Given the description of an element on the screen output the (x, y) to click on. 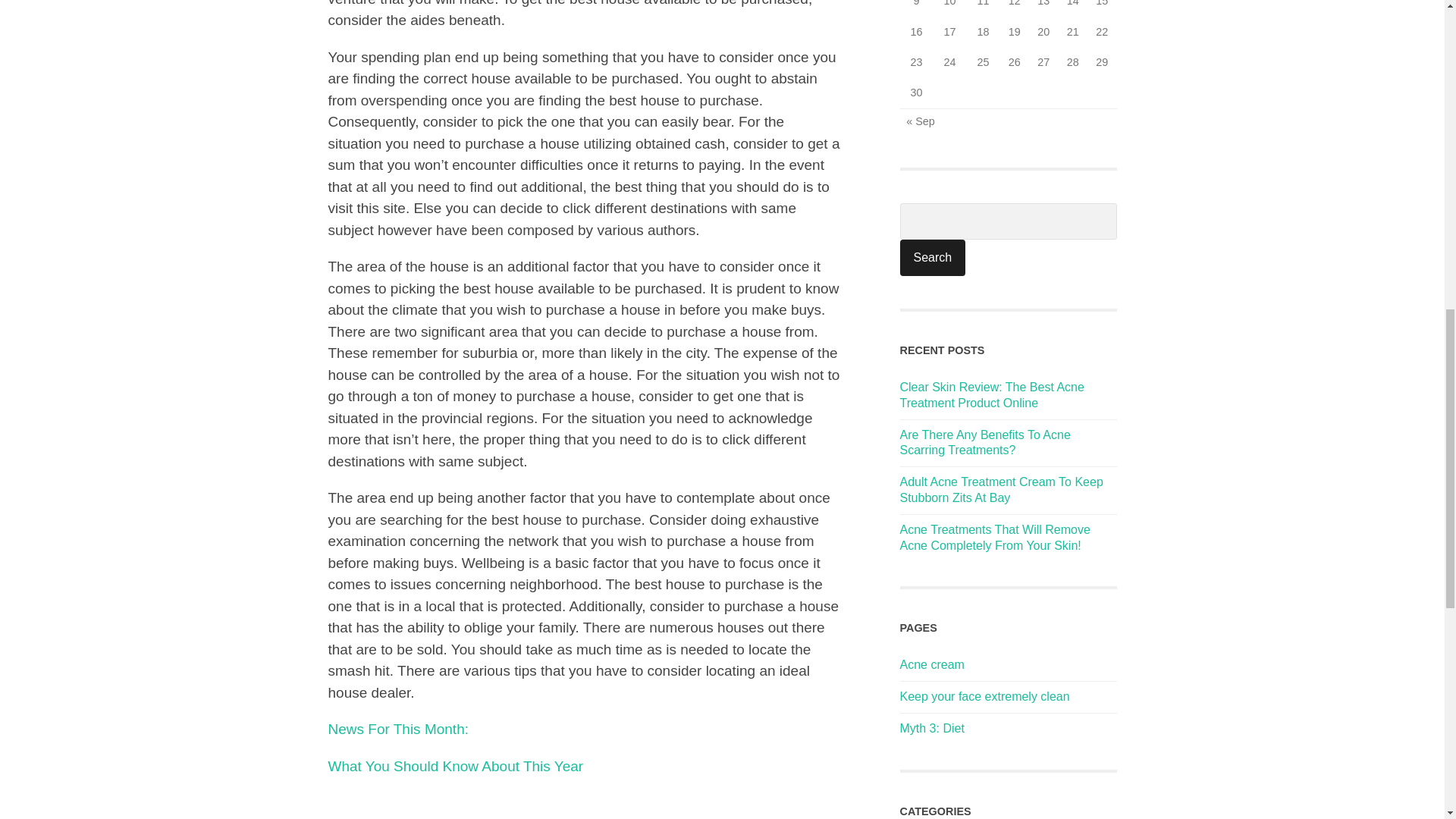
Adult Acne Treatment Cream To Keep Stubborn Zits At Bay (1000, 489)
News For This Month: (397, 729)
Search (932, 257)
Keep your face extremely clean (983, 696)
Acne cream (931, 664)
Are There Any Benefits To Acne Scarring Treatments? (984, 442)
Myth 3: Diet (931, 727)
Clear Skin Review: The Best Acne Treatment Product Online (991, 394)
What You Should Know About This Year (455, 765)
